Given the description of an element on the screen output the (x, y) to click on. 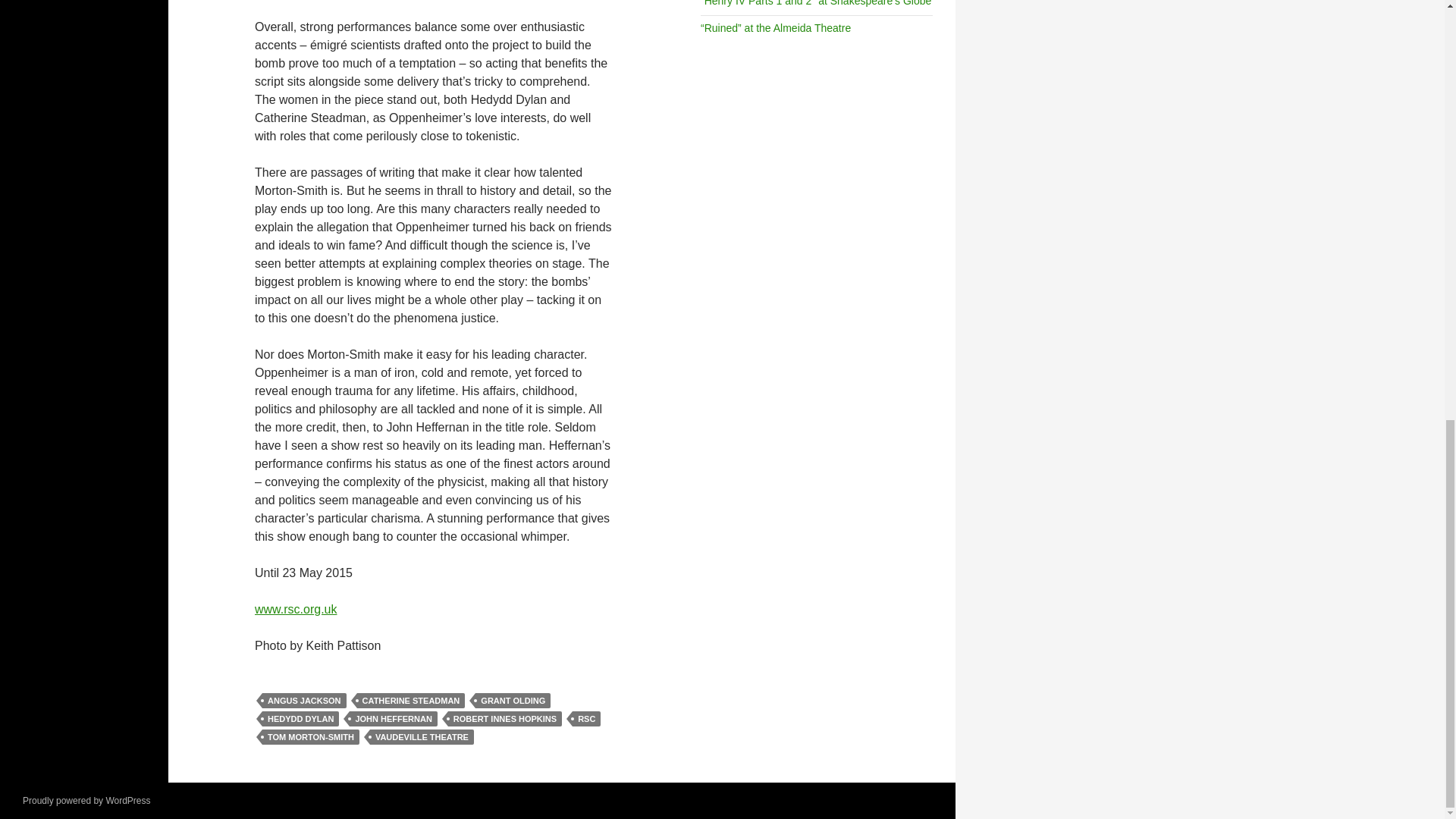
RSC (585, 718)
JOHN HEFFERNAN (392, 718)
ANGUS JACKSON (304, 700)
CATHERINE STEADMAN (410, 700)
VAUDEVILLE THEATRE (421, 736)
TOM MORTON-SMITH (310, 736)
ROBERT INNES HOPKINS (505, 718)
HEDYDD DYLAN (300, 718)
www.rsc.org.uk (295, 608)
GRANT OLDING (513, 700)
